Given the description of an element on the screen output the (x, y) to click on. 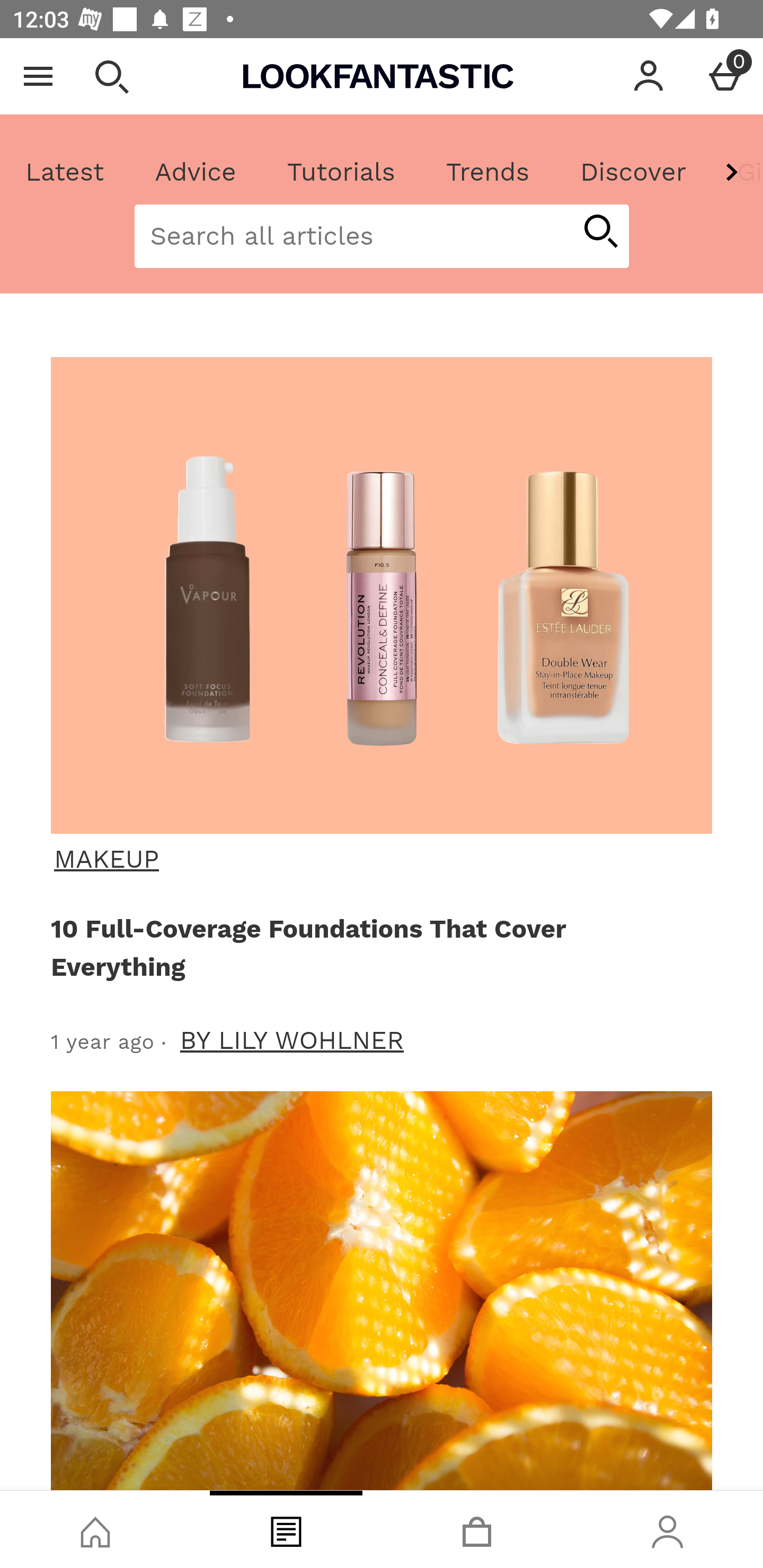
Open Menu (38, 75)
Open search (111, 75)
Account (648, 75)
Basket Menu (724, 75)
Latest (65, 172)
Advice (195, 172)
Tutorials (340, 172)
Trends (486, 172)
Discover (632, 172)
Gift Guide (736, 172)
start article search (599, 232)
MAKEUP (379, 858)
10 Full-Coverage Foundations That Cover Everything (377, 947)
BY LILY WOHLNER (292, 1040)
Shop, tab, 1 of 4 (95, 1529)
Blog, tab, 2 of 4 (285, 1529)
Basket, tab, 3 of 4 (476, 1529)
Account, tab, 4 of 4 (667, 1529)
